Given the description of an element on the screen output the (x, y) to click on. 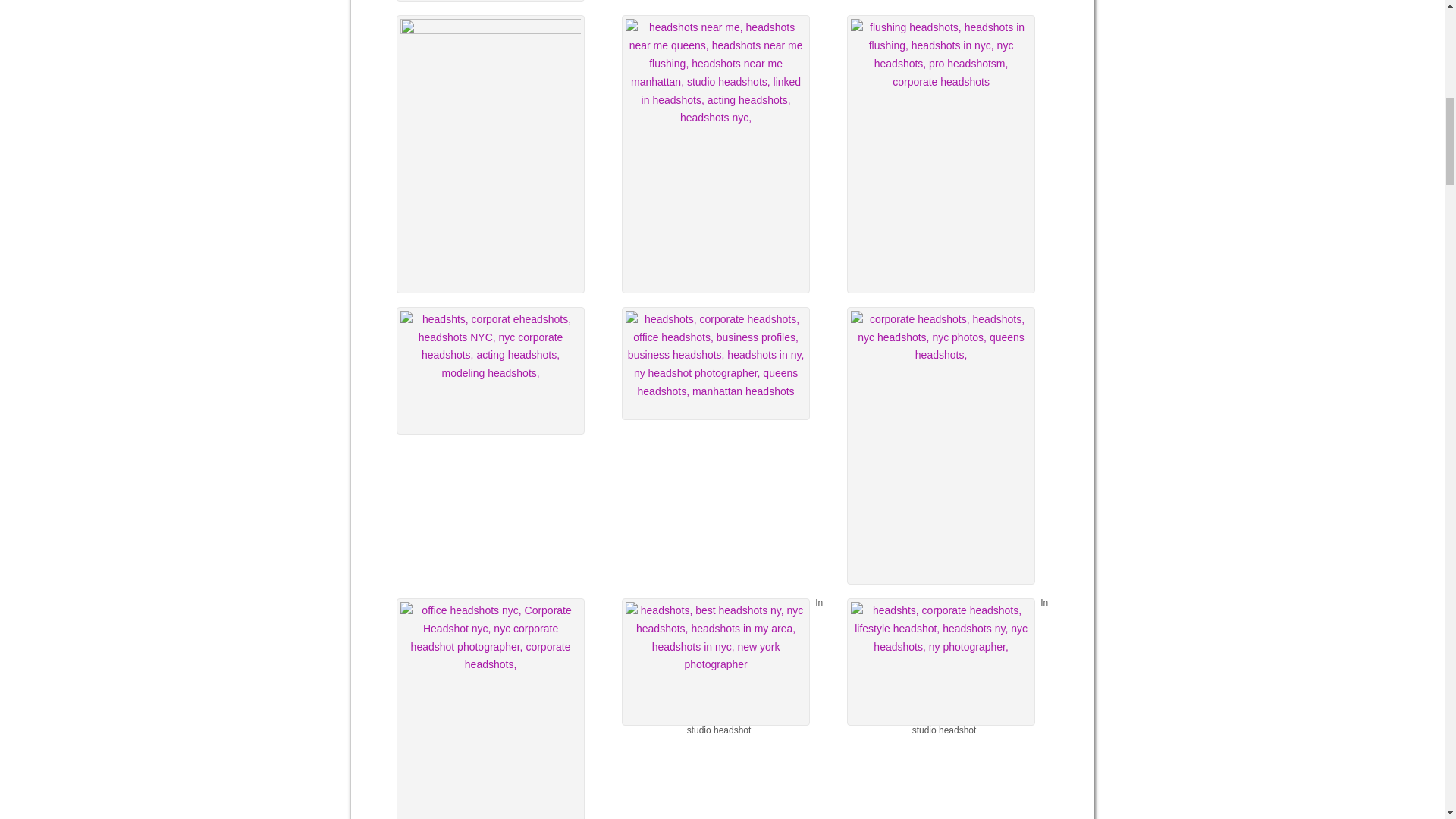
Errol Headshot (941, 661)
In Studio Corporate Headshot (490, 370)
Nora Headshot (715, 661)
Corporate Headshots (715, 363)
